Given the description of an element on the screen output the (x, y) to click on. 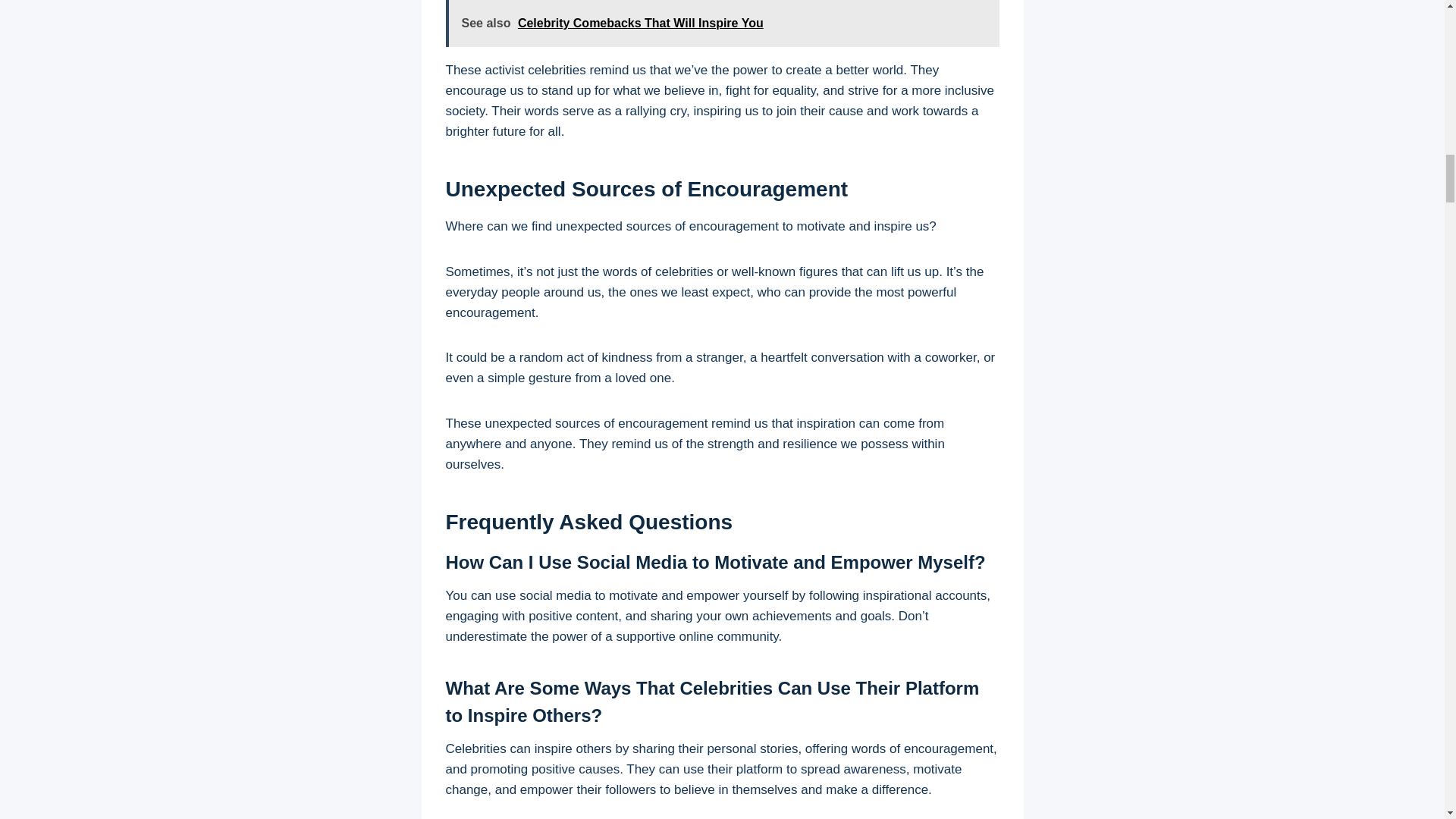
See also  Celebrity Comebacks That Will Inspire You (721, 22)
